Given the description of an element on the screen output the (x, y) to click on. 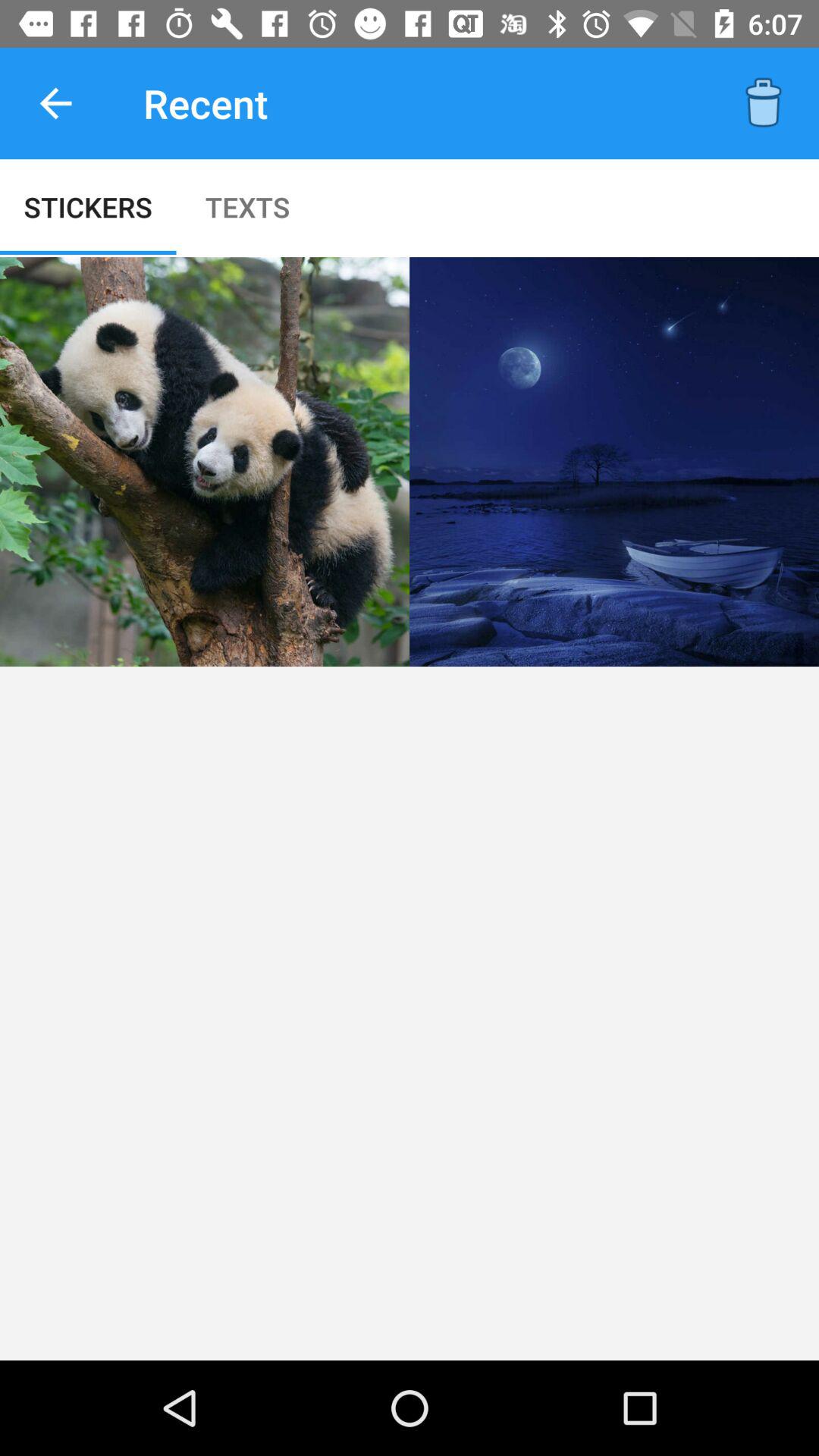
click item to the right of the recent item (763, 103)
